Given the description of an element on the screen output the (x, y) to click on. 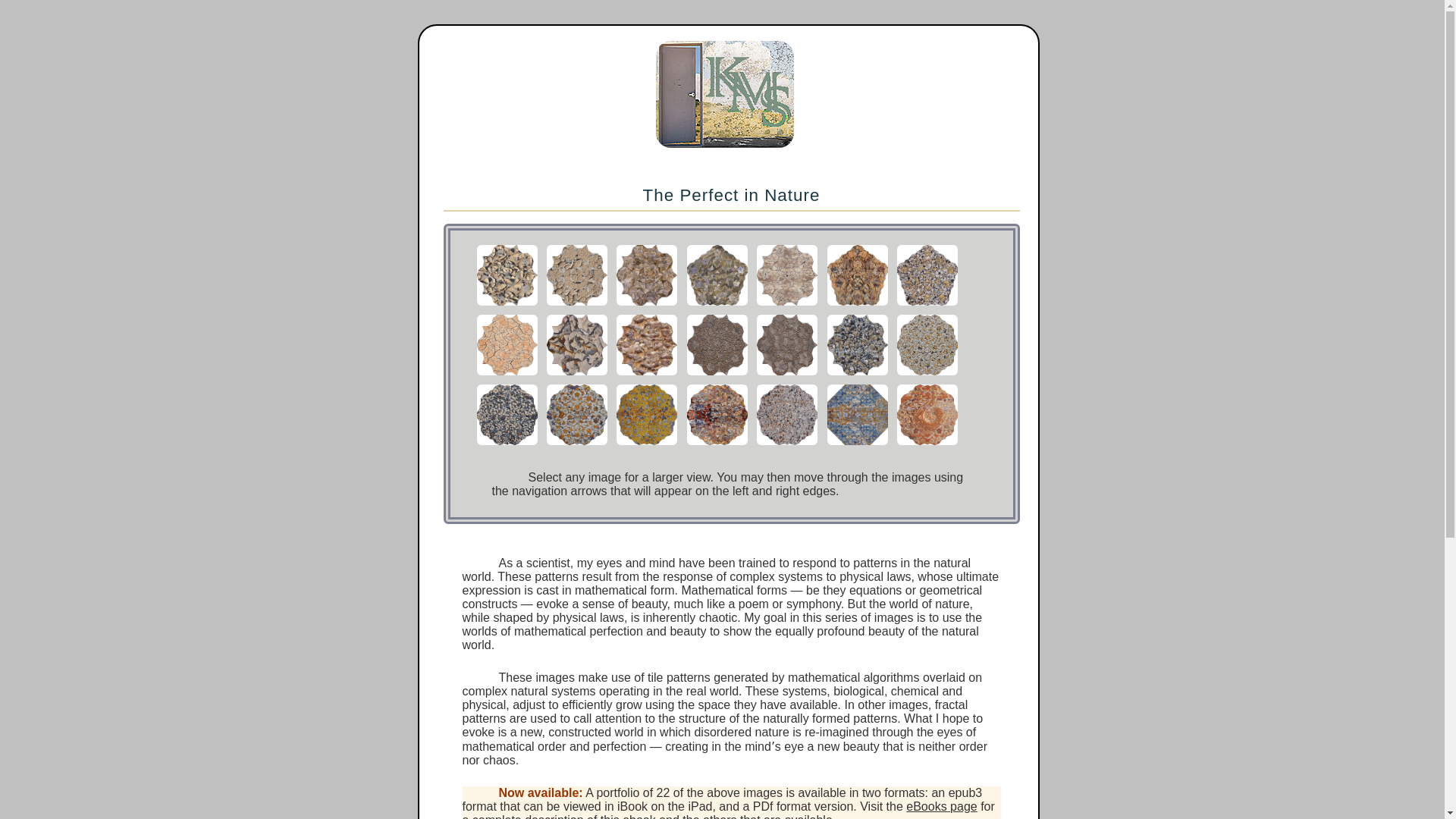
Infinite Star - Gypsum (645, 305)
Cartwheel - Lichen II (645, 444)
Infinite Star - Mussel and Barnacle colonies (856, 374)
Infinite Star - Tracks, Clam Beach, CA (715, 374)
Infinite Star - Tracks 2, Clam Beach, CA (785, 374)
Cartwheel - Lichen I (576, 444)
Cartwheel -Wonderstone (715, 444)
Infinite Star - Weston Beach, Pt. Lobos (576, 374)
Infinite Star - Bisti Wilderness Area (785, 305)
Cartwheel -Fish Creek (785, 444)
Cartwheel - Barnacle Colony (926, 374)
Infinite Sun 2 - Lava Flow (856, 305)
Infinite Star - ShoreAcres State Park, OR (645, 374)
Infinite Star 2 - Fish Creek (576, 305)
Infinite Star 1 - Fish Creek (506, 305)
